Given the description of an element on the screen output the (x, y) to click on. 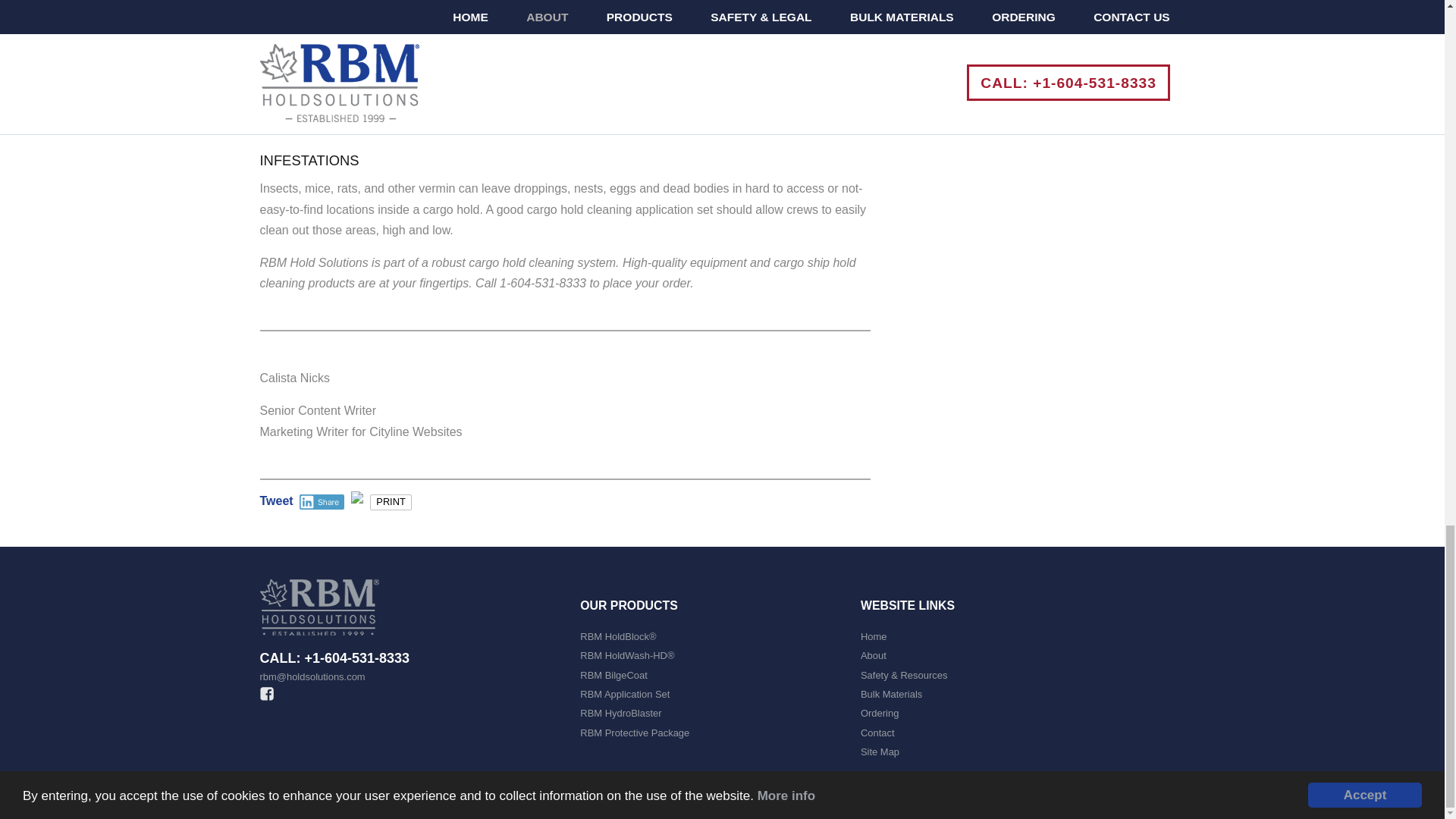
PRINT (390, 502)
RBM HydroBlaster (620, 713)
Tweet (275, 500)
RBM Application Set (624, 694)
Share (321, 501)
Home (873, 636)
RBM Protective Package (633, 732)
RBM BilgeCoat (613, 674)
About (873, 655)
Bulk Materials (890, 694)
